Given the description of an element on the screen output the (x, y) to click on. 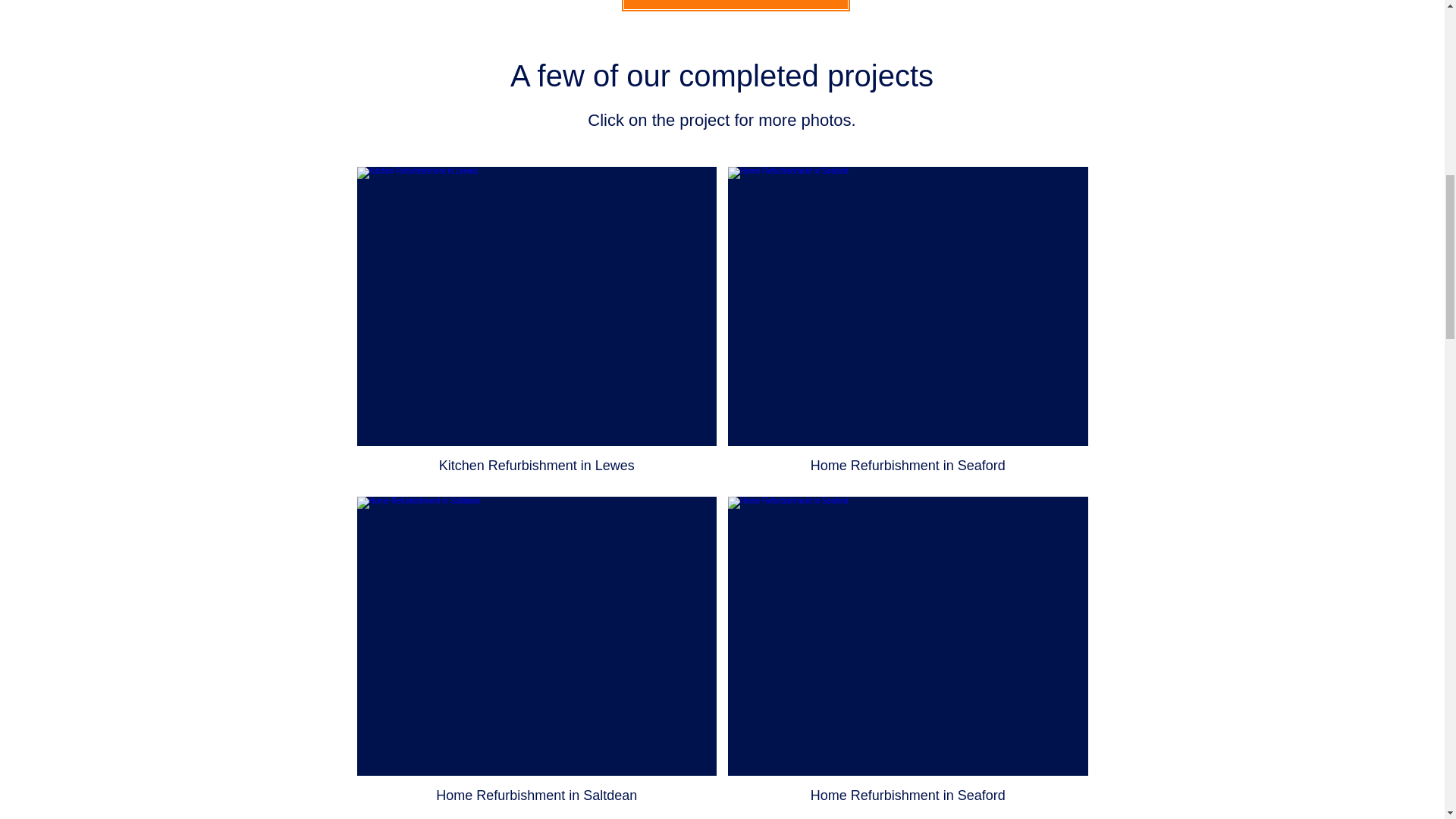
Home Refurbishment in Seaford (907, 655)
Contact Us (735, 6)
Home Refurbishment in Saltdean (536, 655)
Home Refurbishment in Seaford (907, 326)
Kitchen Refurbishment in Lewes (536, 326)
